Given the description of an element on the screen output the (x, y) to click on. 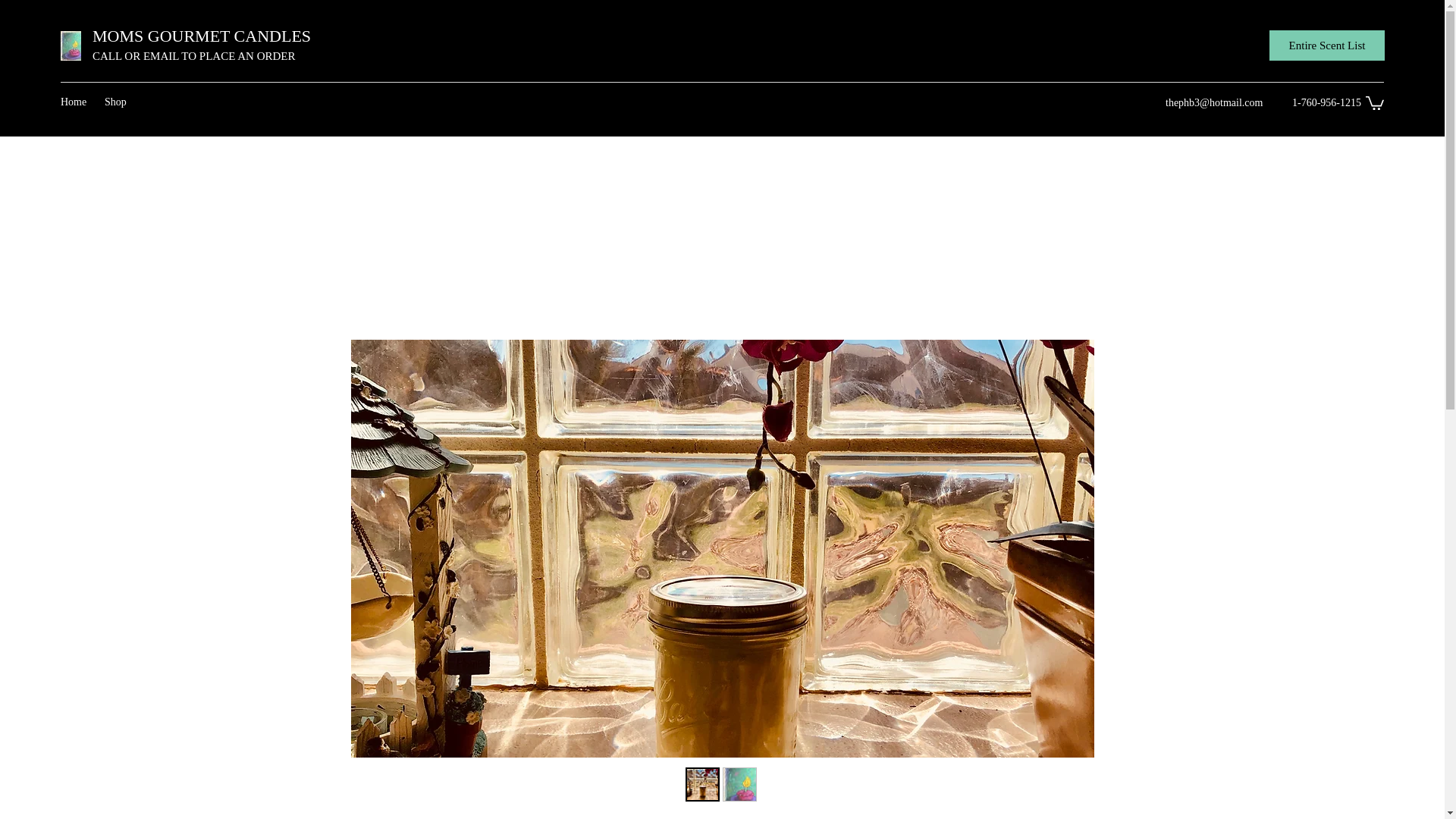
Shop (116, 101)
Home (74, 101)
MOMS GOURMET CANDLES (202, 35)
Entire Scent List (1326, 45)
